Given the description of an element on the screen output the (x, y) to click on. 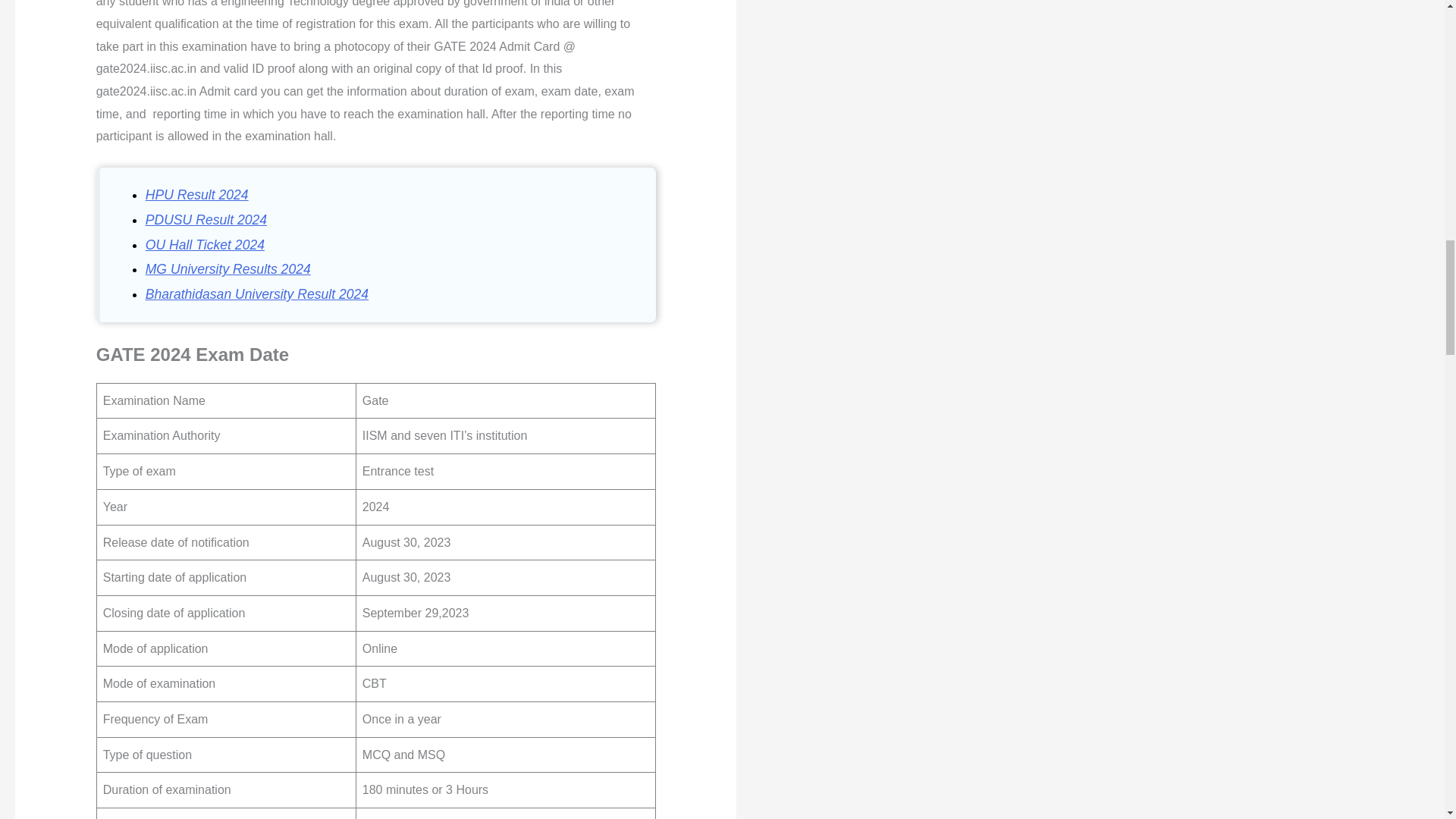
Bharathidasan University Result 2024 (256, 294)
HPU Result 2024 (196, 194)
OU Hall Ticket 2024 (204, 244)
MG University Results 2024 (228, 268)
PDUSU Result 2024 (205, 219)
